Given the description of an element on the screen output the (x, y) to click on. 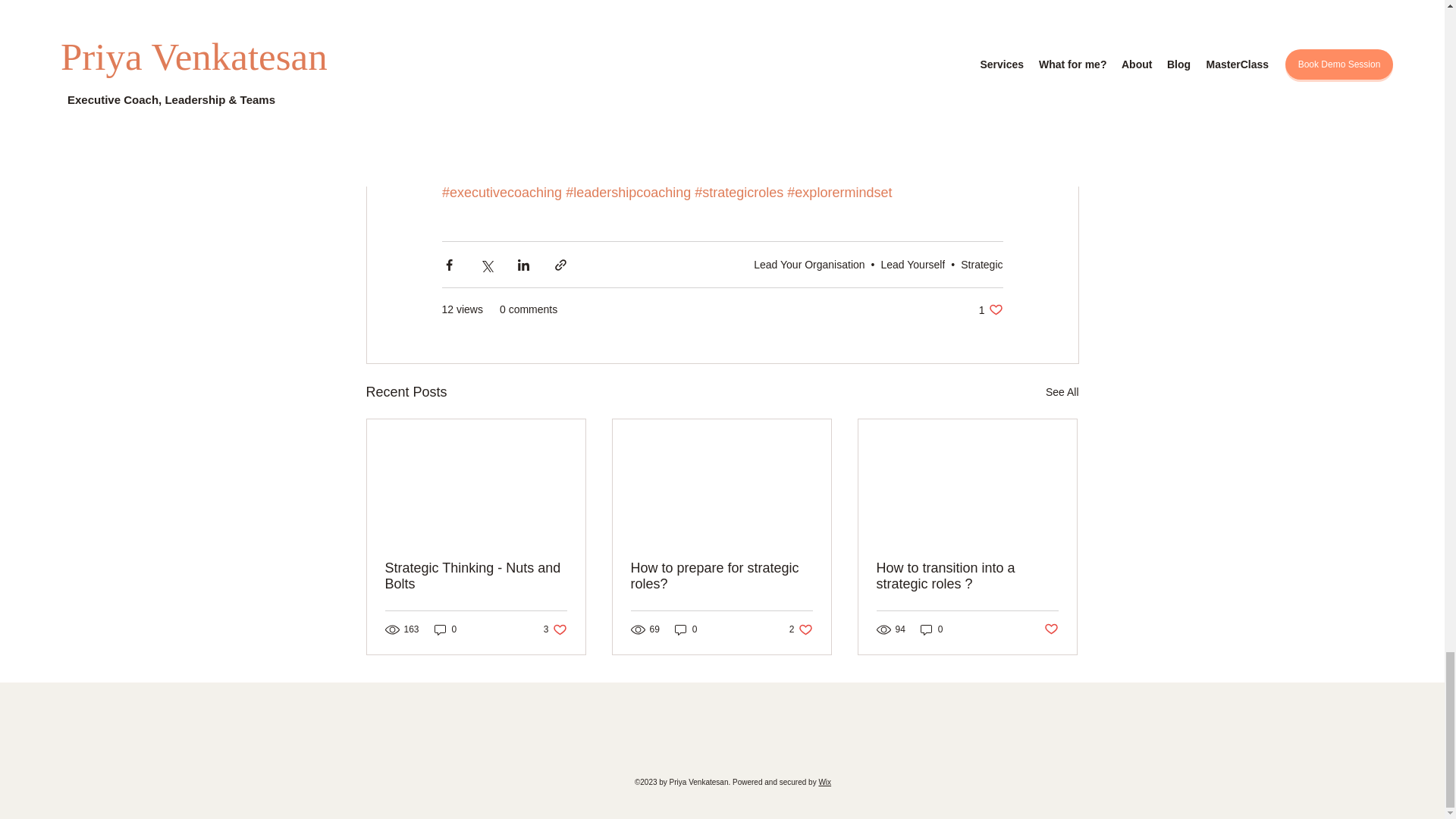
See All (1061, 392)
Lead Your Organisation (809, 264)
Strategic Thinking - Nuts and Bolts (476, 576)
here (800, 629)
How to prepare for strategic roles? (990, 309)
Lead Yourself (815, 89)
0 (721, 576)
How to transition into a strategic roles ? (912, 264)
